Given the description of an element on the screen output the (x, y) to click on. 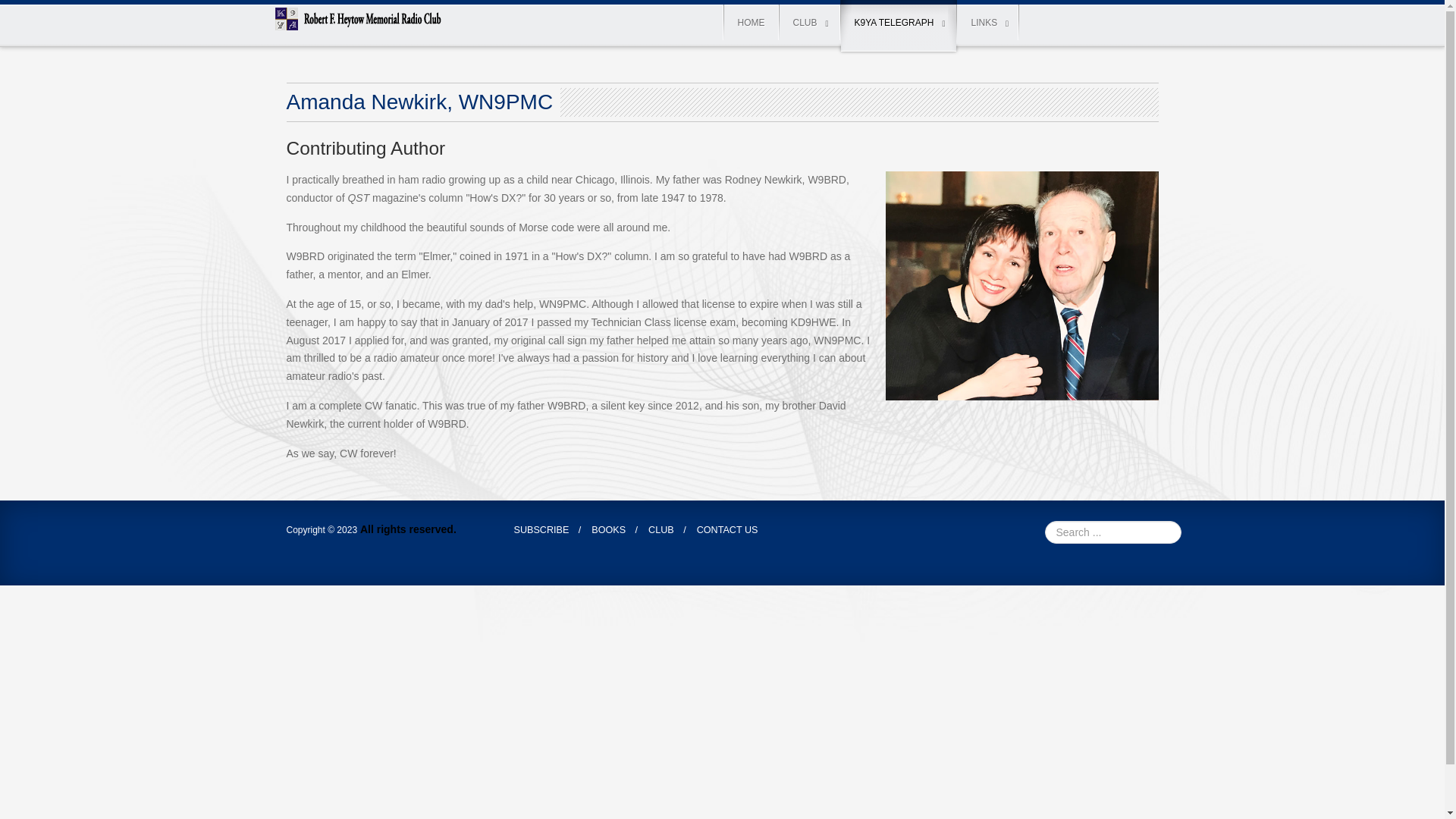
SUBSCRIBE (541, 529)
K9YA TELEGRAPH (898, 25)
LINKS (988, 22)
CLUB (809, 22)
Amanda Newkirk, WN9PMC (419, 101)
HOME (750, 22)
